Given the description of an element on the screen output the (x, y) to click on. 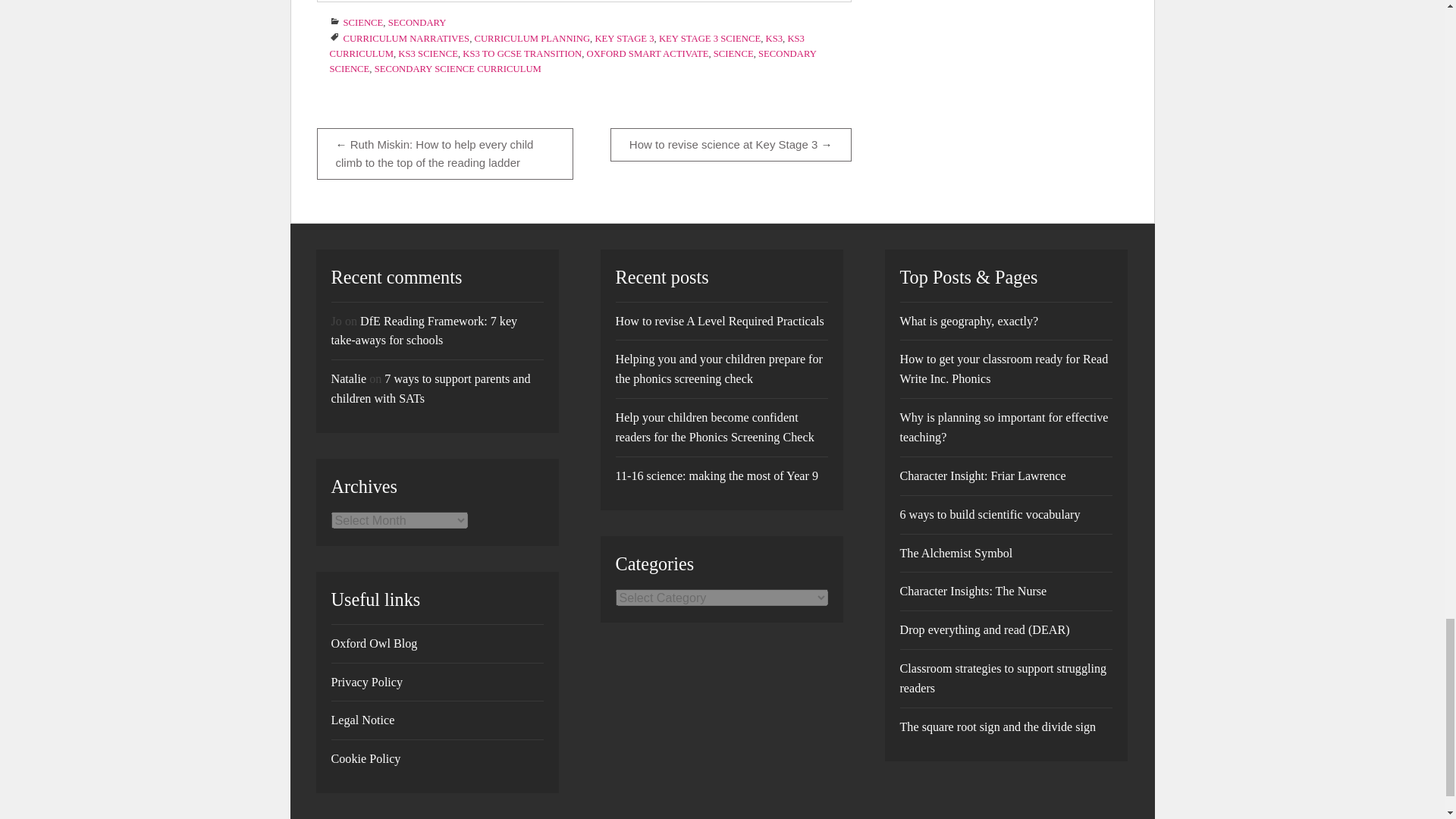
SECONDARY (417, 22)
CURRICULUM NARRATIVES (405, 38)
SCIENCE (362, 22)
